Given the description of an element on the screen output the (x, y) to click on. 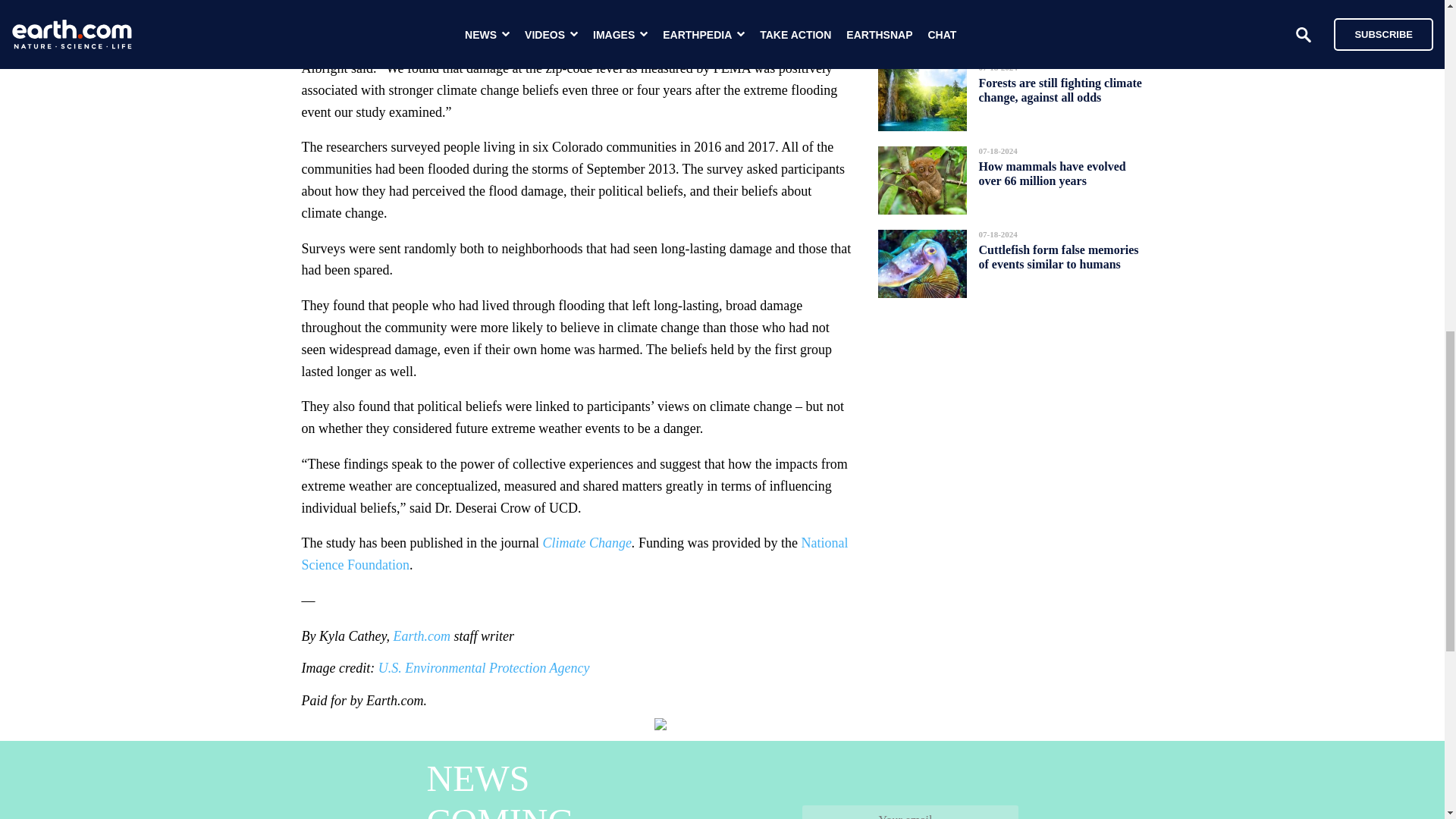
How mammals have evolved over 66 million years (1051, 173)
Forests are still fighting climate change, against all odds (1059, 89)
National Science Foundation (574, 553)
U.S. Environmental Protection Agency (483, 667)
Earth.com (421, 635)
Sea sawdust: Unexpected diet of crown-of-thorns starfish (1054, 13)
Climate Change (586, 542)
